Given the description of an element on the screen output the (x, y) to click on. 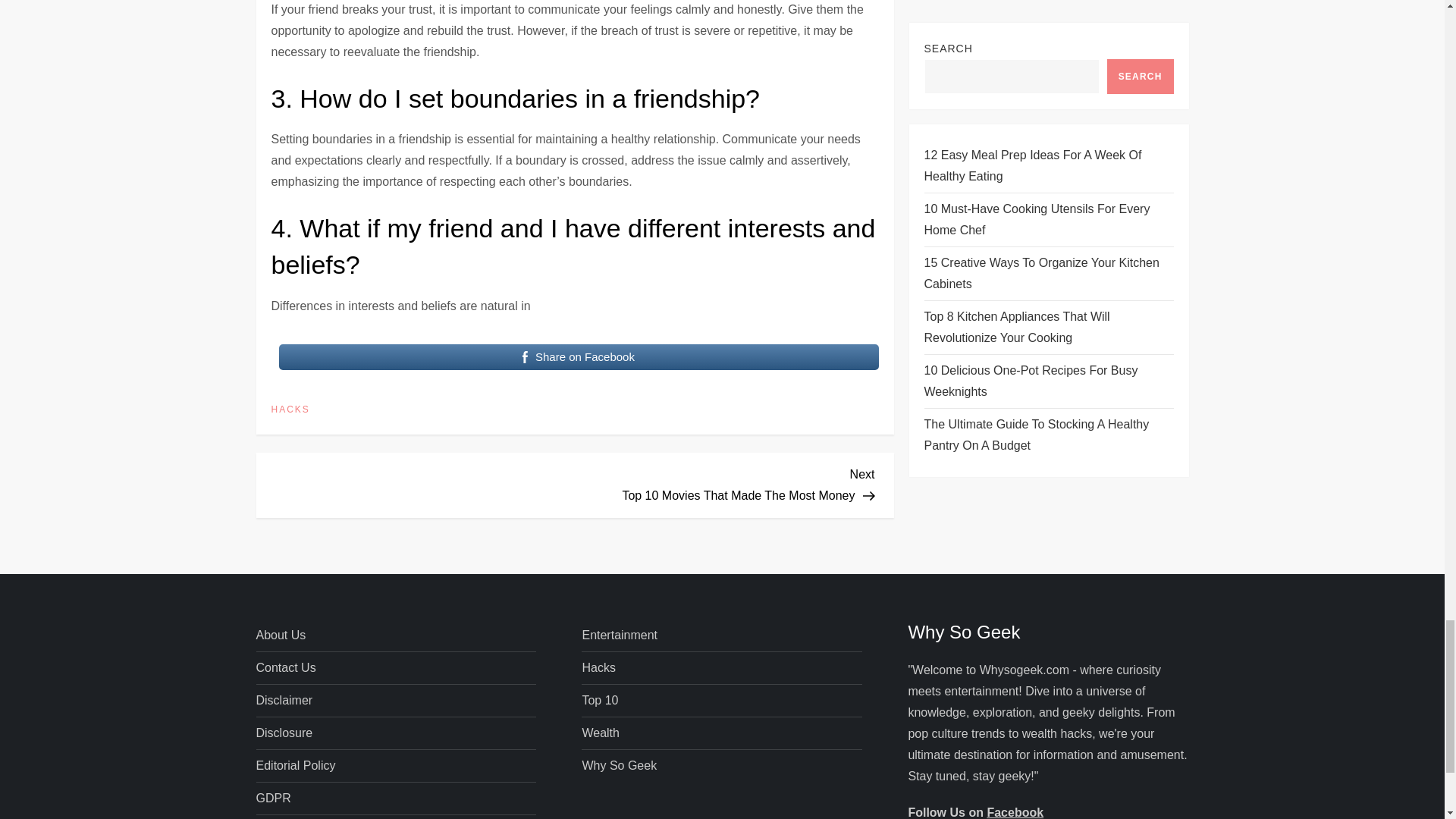
Contact Us (285, 667)
About Us (280, 635)
Disclaimer (284, 700)
Share on Facebook (579, 357)
Disclosure (725, 483)
Editorial Policy (284, 732)
HACKS (296, 765)
